Given the description of an element on the screen output the (x, y) to click on. 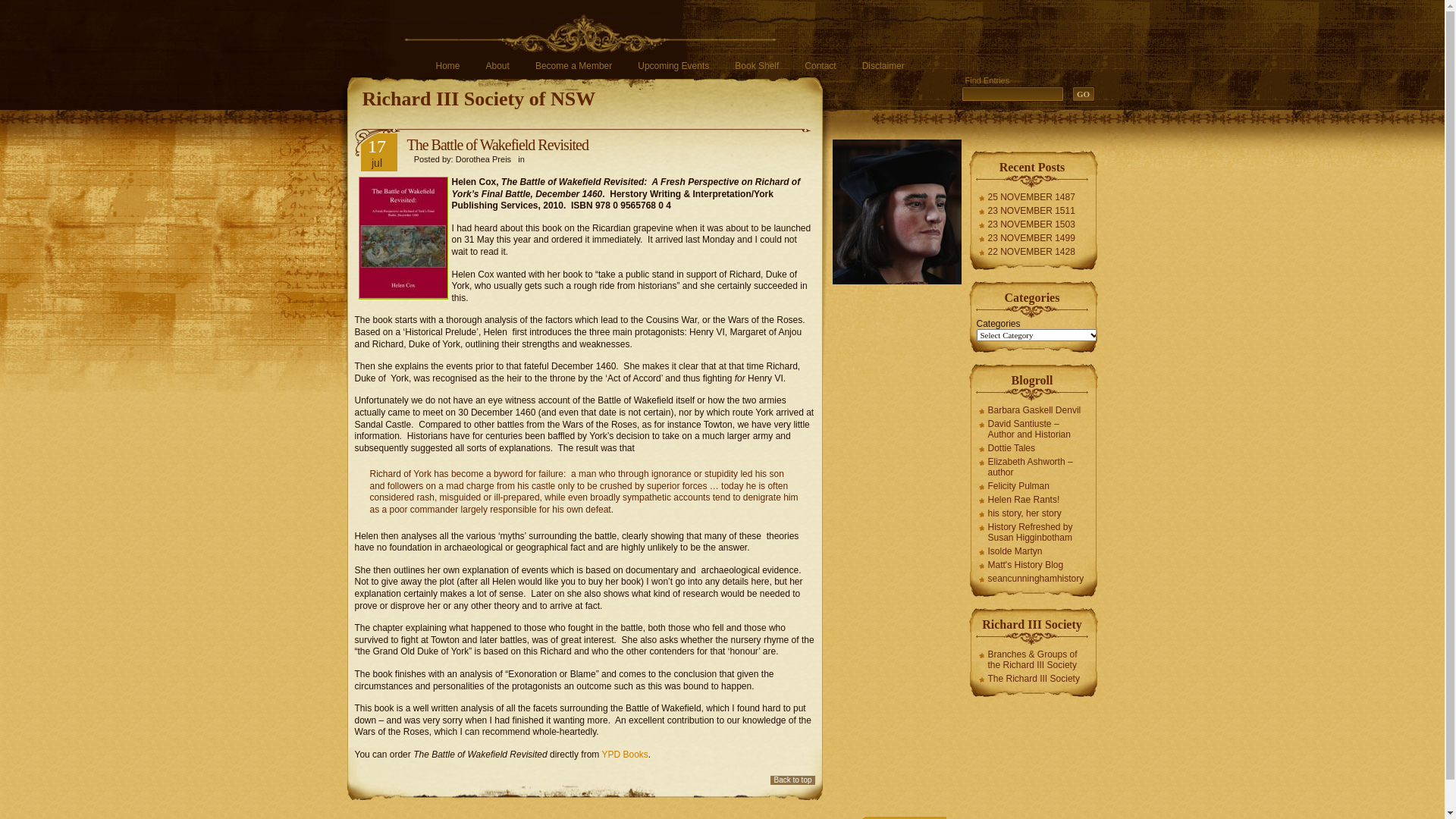
Isolde Martyn Element type: text (1032, 551)
seancunninghamhistory Element type: text (1032, 578)
his story, her story Element type: text (1032, 513)
Back to top Element type: text (792, 779)
Dottie Tales Element type: text (1032, 448)
History Refreshed by Susan Higginbotham Element type: text (1032, 532)
Disclaimer Element type: text (883, 65)
About Element type: text (497, 65)
Helen Rae Rants! Element type: text (1032, 499)
Barbara Gaskell Denvil Element type: text (1032, 410)
23 NOVEMBER 1503 Element type: text (1025, 224)
23 NOVEMBER 1499 Element type: text (1025, 237)
Richard III Society of NSW Element type: text (479, 98)
Felicity Pulman Element type: text (1032, 485)
Batttle of Wakefield Revisited sml Element type: hover (402, 237)
25 NOVEMBER 1487 Element type: text (1025, 196)
Upcoming Events Element type: text (673, 65)
Book Shelf Element type: text (756, 65)
Home Element type: text (447, 65)
Become a Member Element type: text (573, 65)
Matt's History Blog Element type: text (1032, 564)
Contact Element type: text (819, 65)
GO Element type: text (1083, 93)
22 NOVEMBER 1428 Element type: text (1025, 251)
Branches & Groups of the Richard III Society Element type: text (1032, 659)
23 NOVEMBER 1511 Element type: text (1025, 210)
The Richard III Society Element type: text (1032, 678)
YPD Books Element type: text (624, 754)
